Given the description of an element on the screen output the (x, y) to click on. 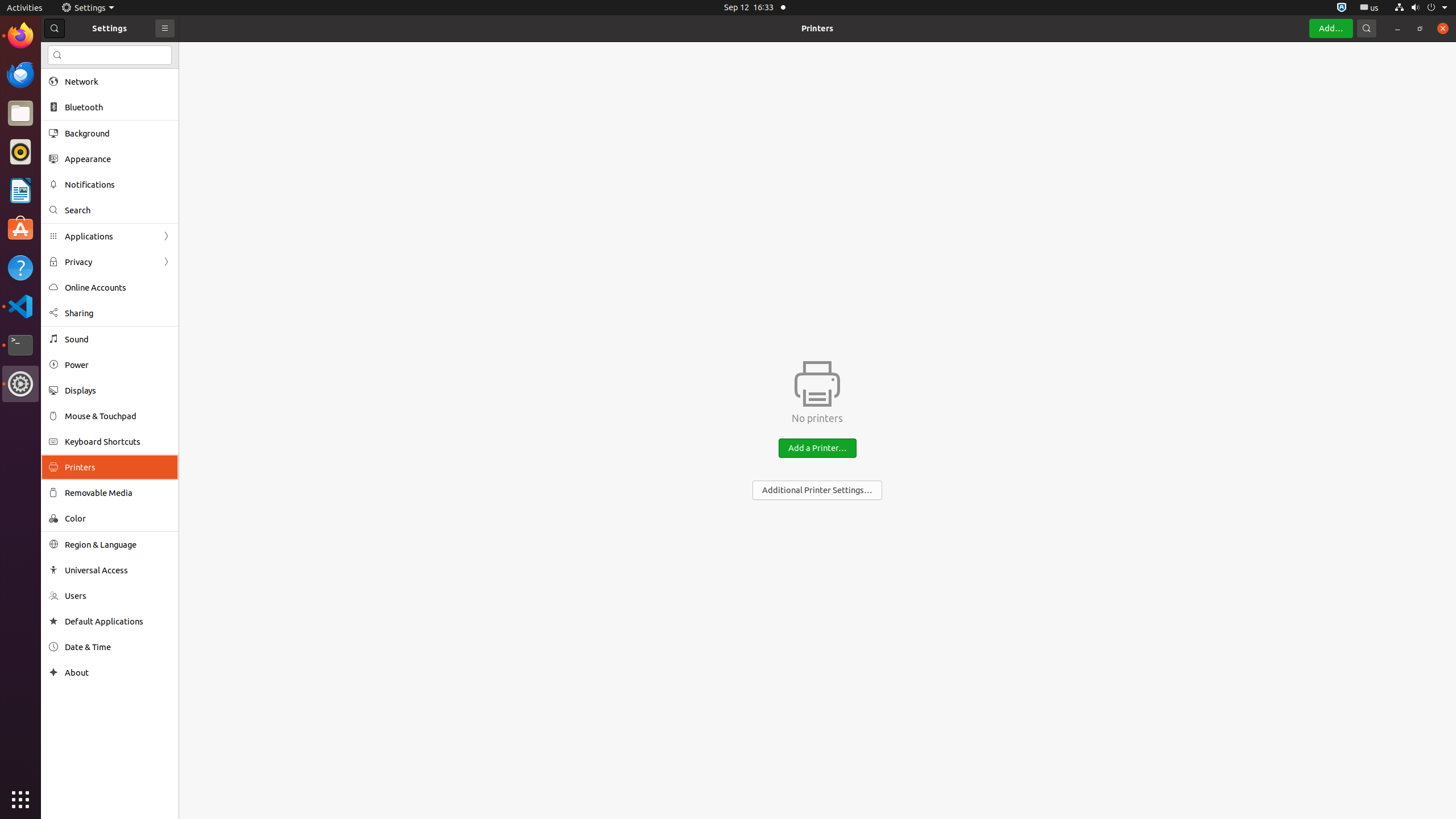
Region & Language Element type: label (117, 544)
luyi1 Element type: label (75, 50)
Color Element type: label (117, 518)
Displays Element type: label (117, 390)
